Given the description of an element on the screen output the (x, y) to click on. 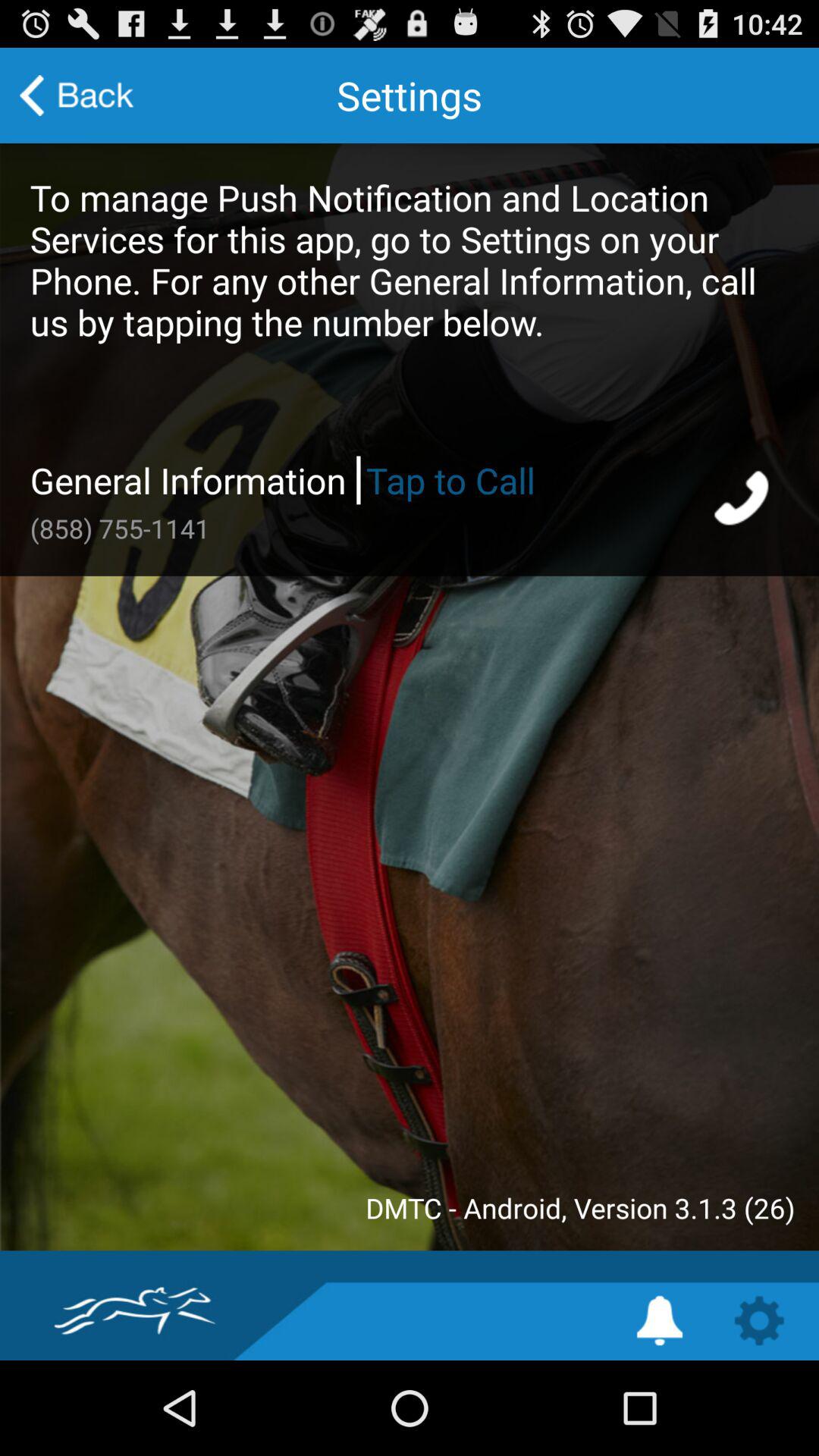
get notifications (659, 1320)
